Given the description of an element on the screen output the (x, y) to click on. 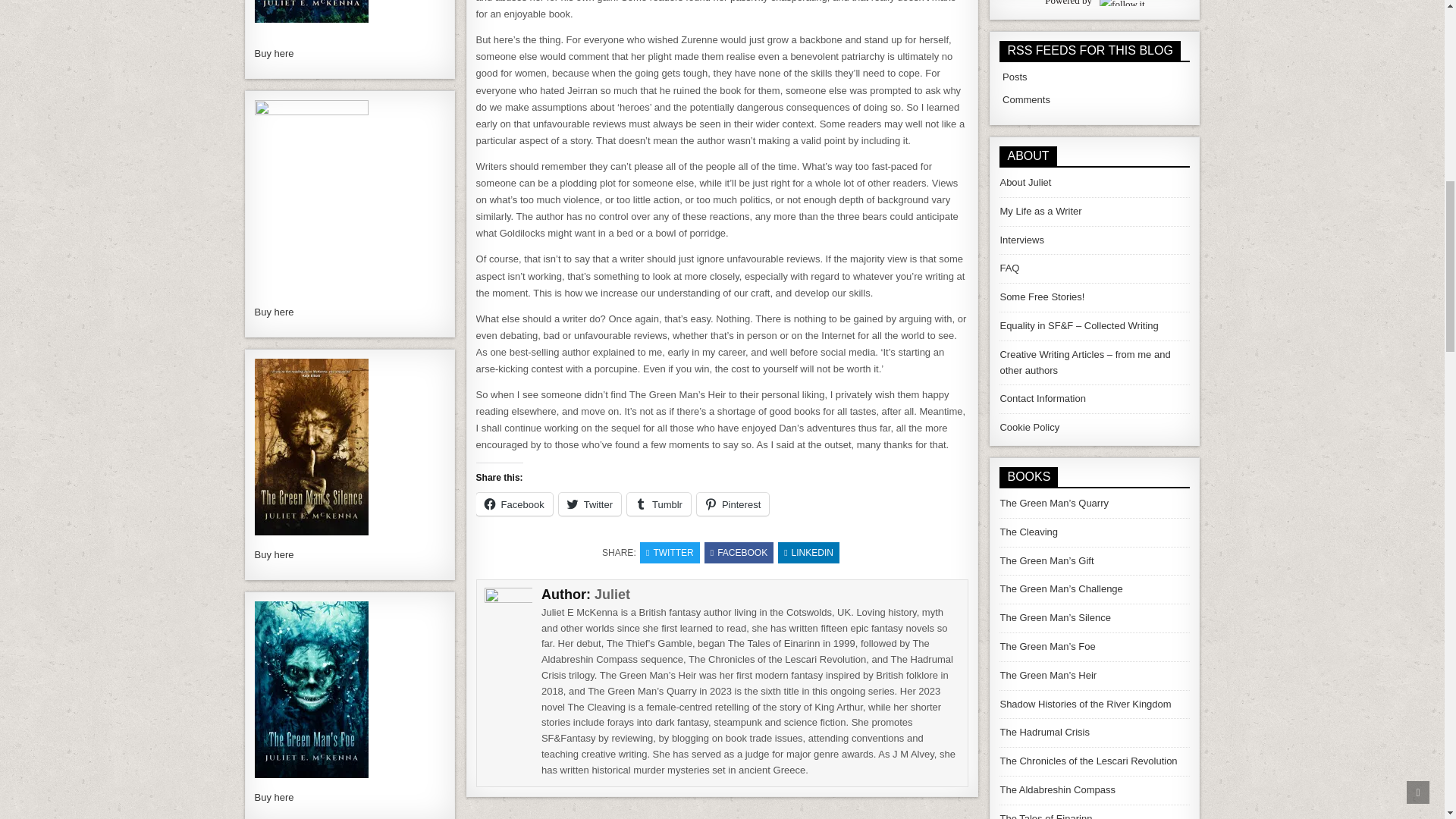
Tweet This! (670, 552)
Share this on Linkedin (808, 552)
Click to share on Tumblr (658, 504)
Click to share on Facebook (514, 504)
Click to share on Pinterest (732, 504)
Click to share on Twitter (590, 504)
Share this on Facebook (738, 552)
